Given the description of an element on the screen output the (x, y) to click on. 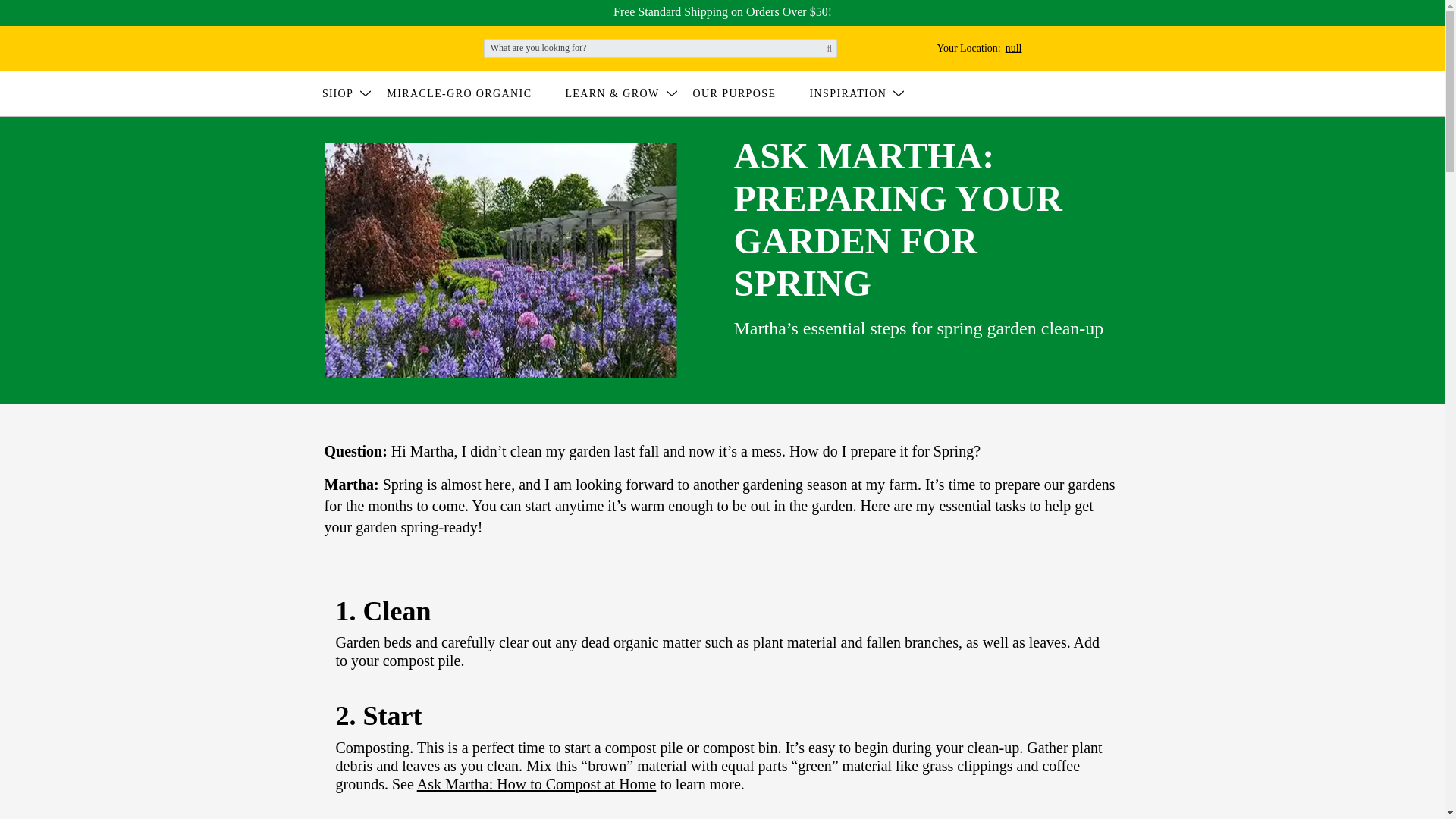
Commerce Cloud Storefront Reference Architecture (969, 48)
MIRACLE-GRO ORGANIC (364, 47)
SHOP (469, 93)
Cart 0 Items (347, 93)
